Given the description of an element on the screen output the (x, y) to click on. 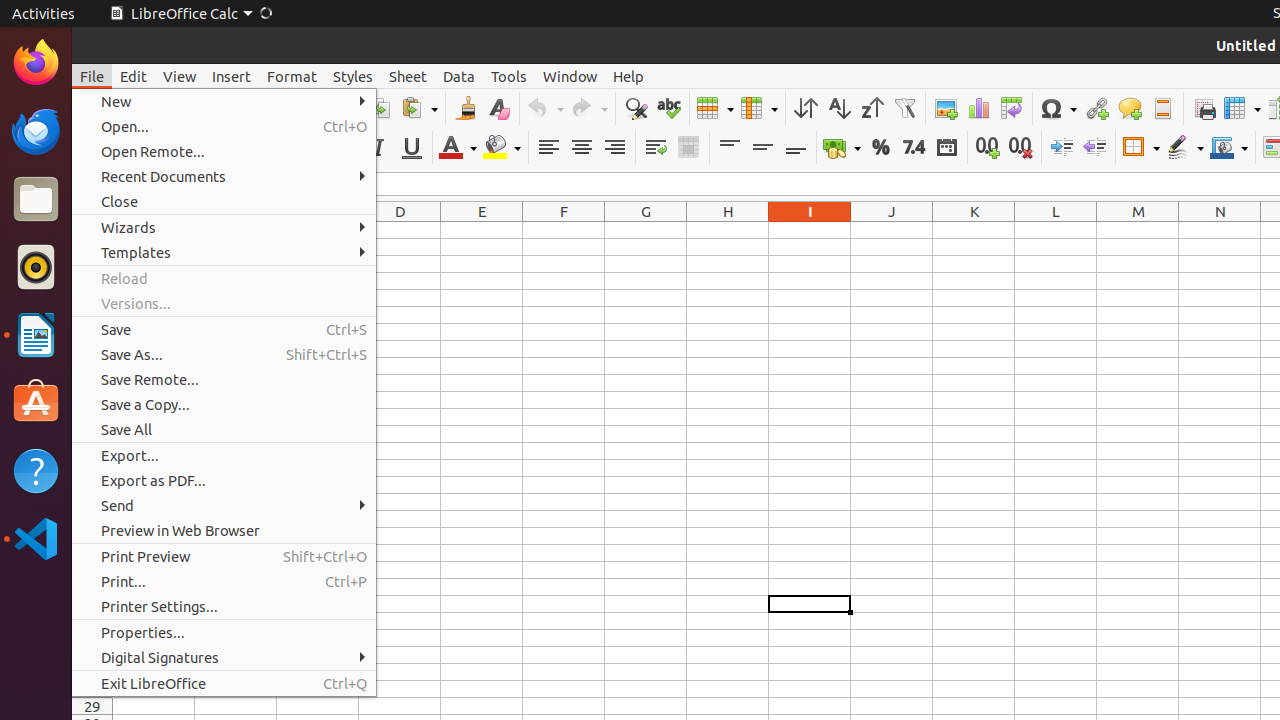
Date Element type: push-button (946, 147)
Digital Signatures Element type: menu (224, 657)
Preview in Web Browser Element type: menu-item (224, 530)
Number Element type: push-button (913, 147)
Open... Element type: menu-item (224, 126)
